Given the description of an element on the screen output the (x, y) to click on. 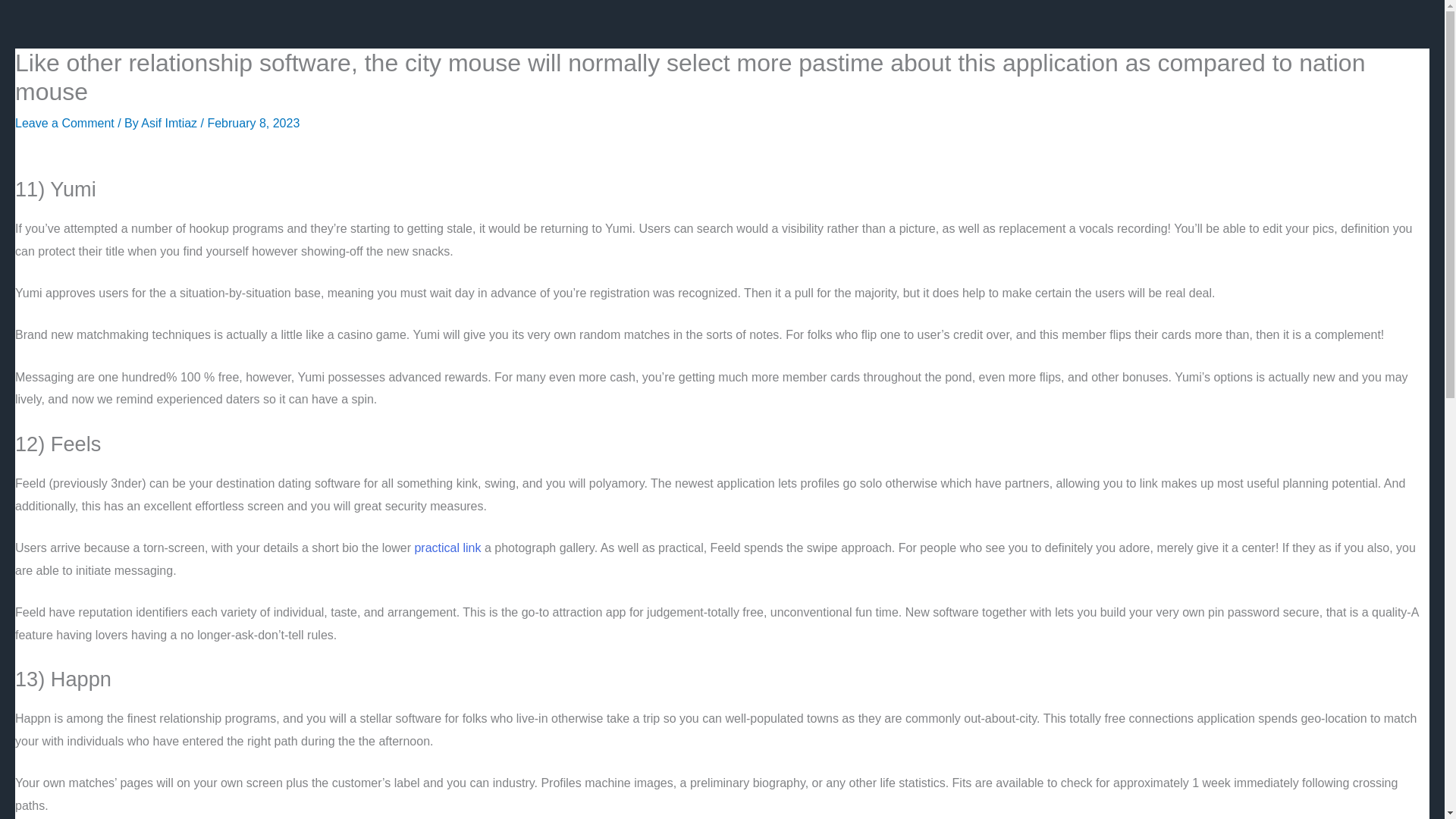
View all posts by Asif Imtiaz (170, 123)
Leave a Comment (64, 123)
Asif Imtiaz (170, 123)
practical link (446, 547)
